Given the description of an element on the screen output the (x, y) to click on. 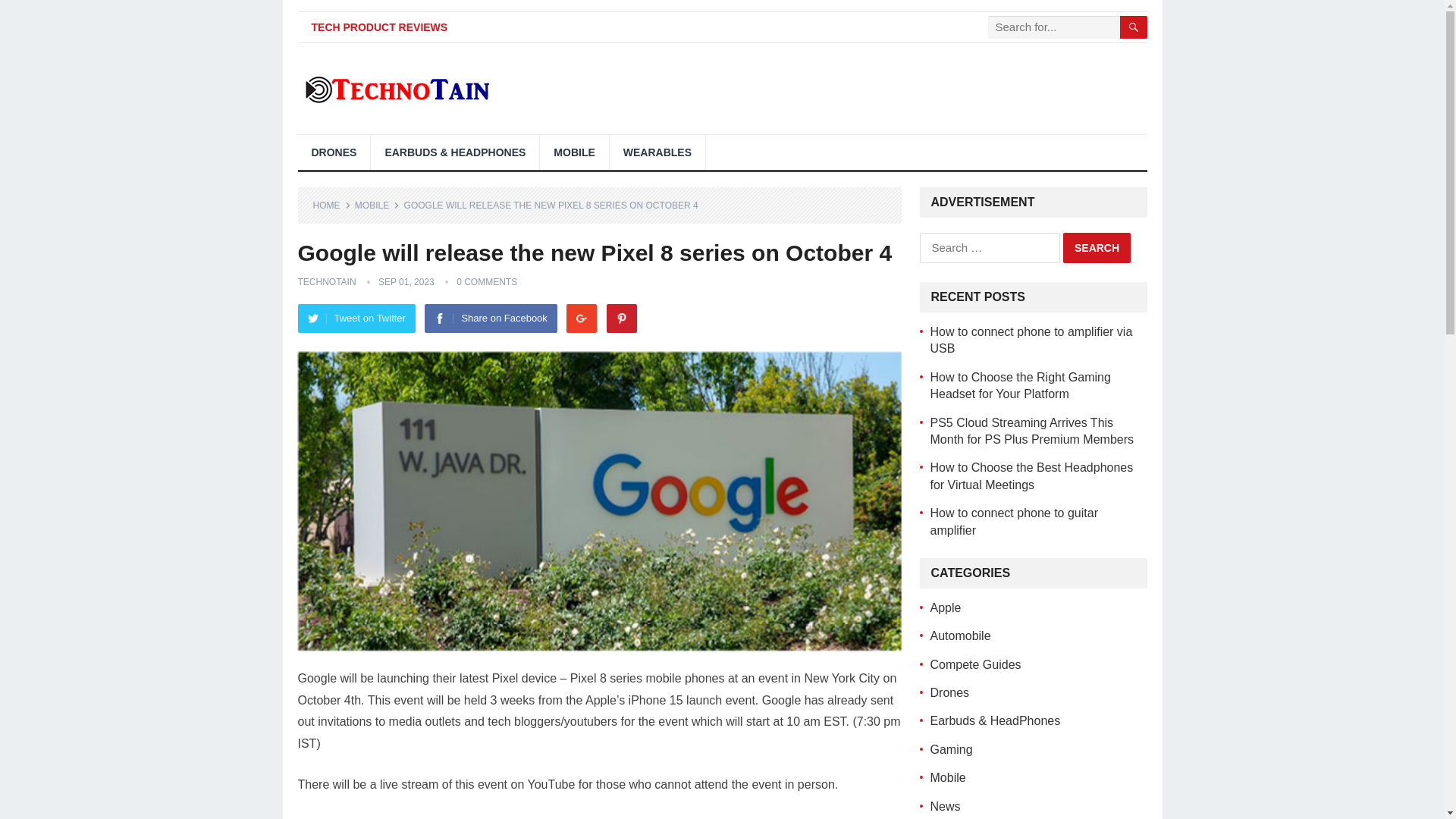
Search (1096, 247)
DRONES (333, 152)
TECHNOTAIN (326, 281)
Pinterest (622, 317)
0 COMMENTS (486, 281)
Tweet on Twitter (355, 317)
Share on Facebook (490, 317)
WEARABLES (657, 152)
Search (1096, 247)
HOME (331, 204)
MOBILE (574, 152)
MOBILE (376, 204)
TECH PRODUCT REVIEWS (379, 27)
Search (1096, 247)
Posts by Technotain (326, 281)
